Given the description of an element on the screen output the (x, y) to click on. 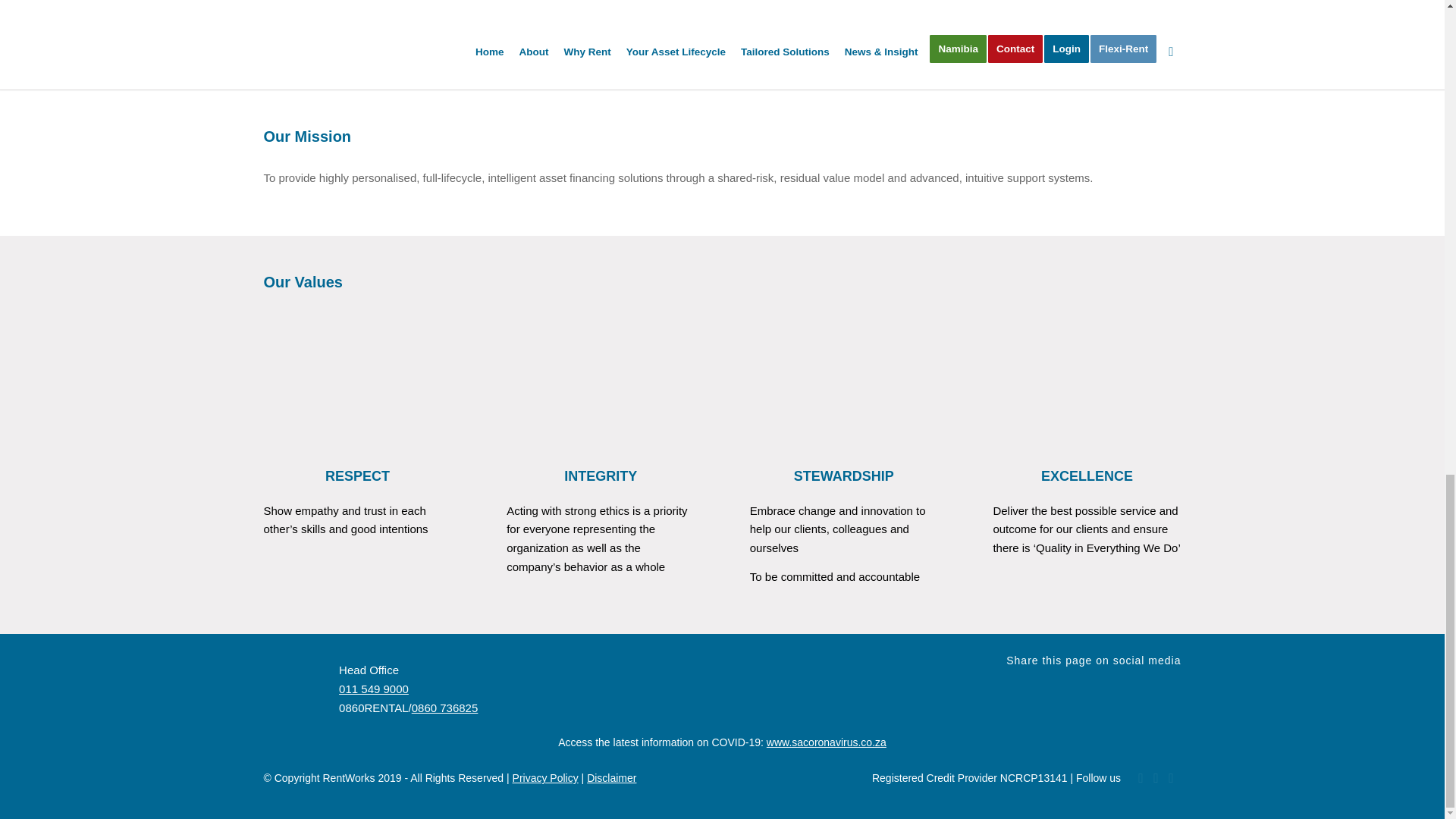
stewardship (843, 379)
Footer Logo (293, 685)
integrity (600, 379)
respect (357, 379)
excellence (1086, 379)
